Given the description of an element on the screen output the (x, y) to click on. 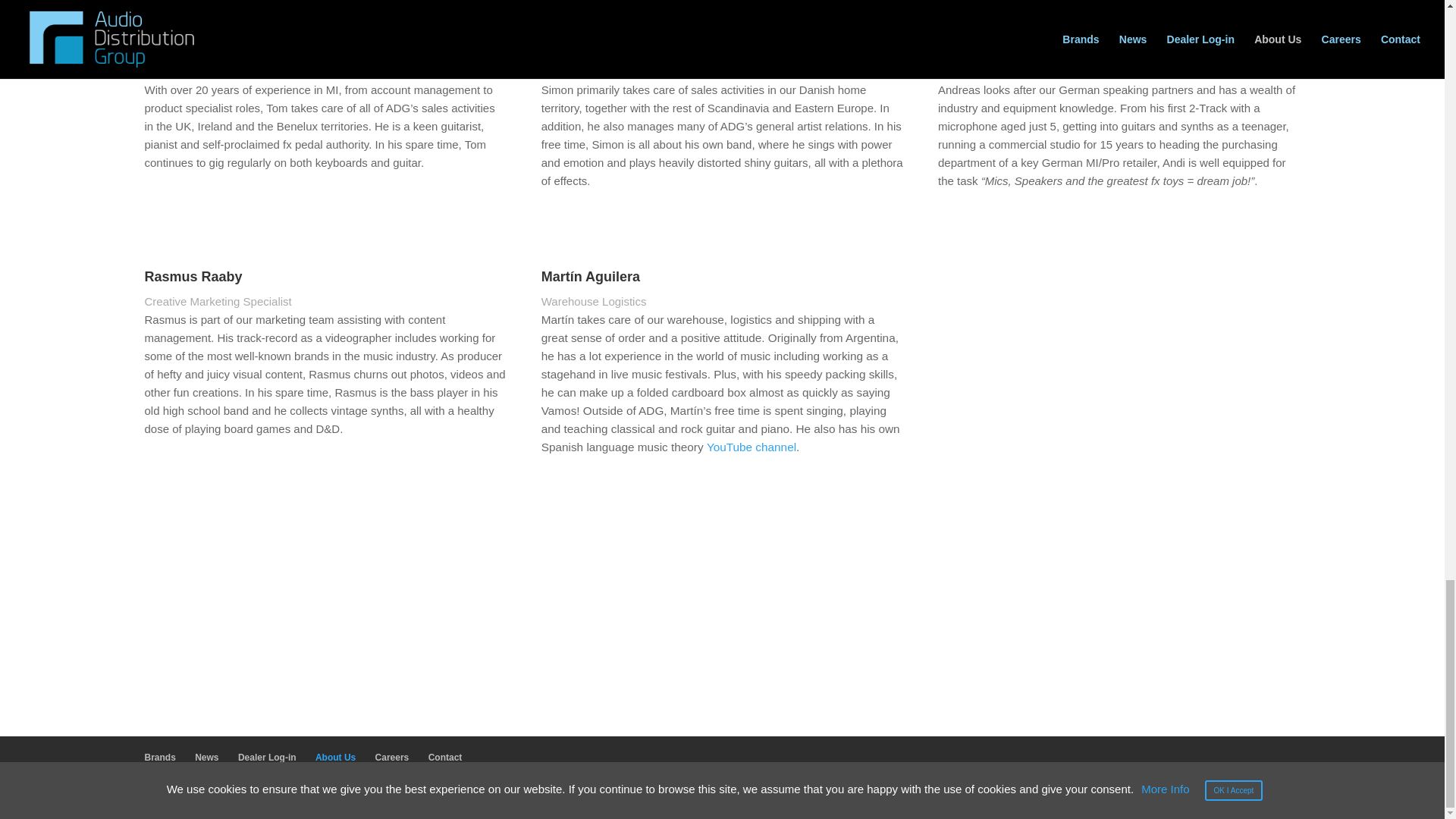
Contact (445, 757)
News (206, 757)
Brands (159, 757)
Dealer Log-in (267, 757)
YouTube channel (751, 446)
Careers (392, 757)
About Us (335, 757)
